Given the description of an element on the screen output the (x, y) to click on. 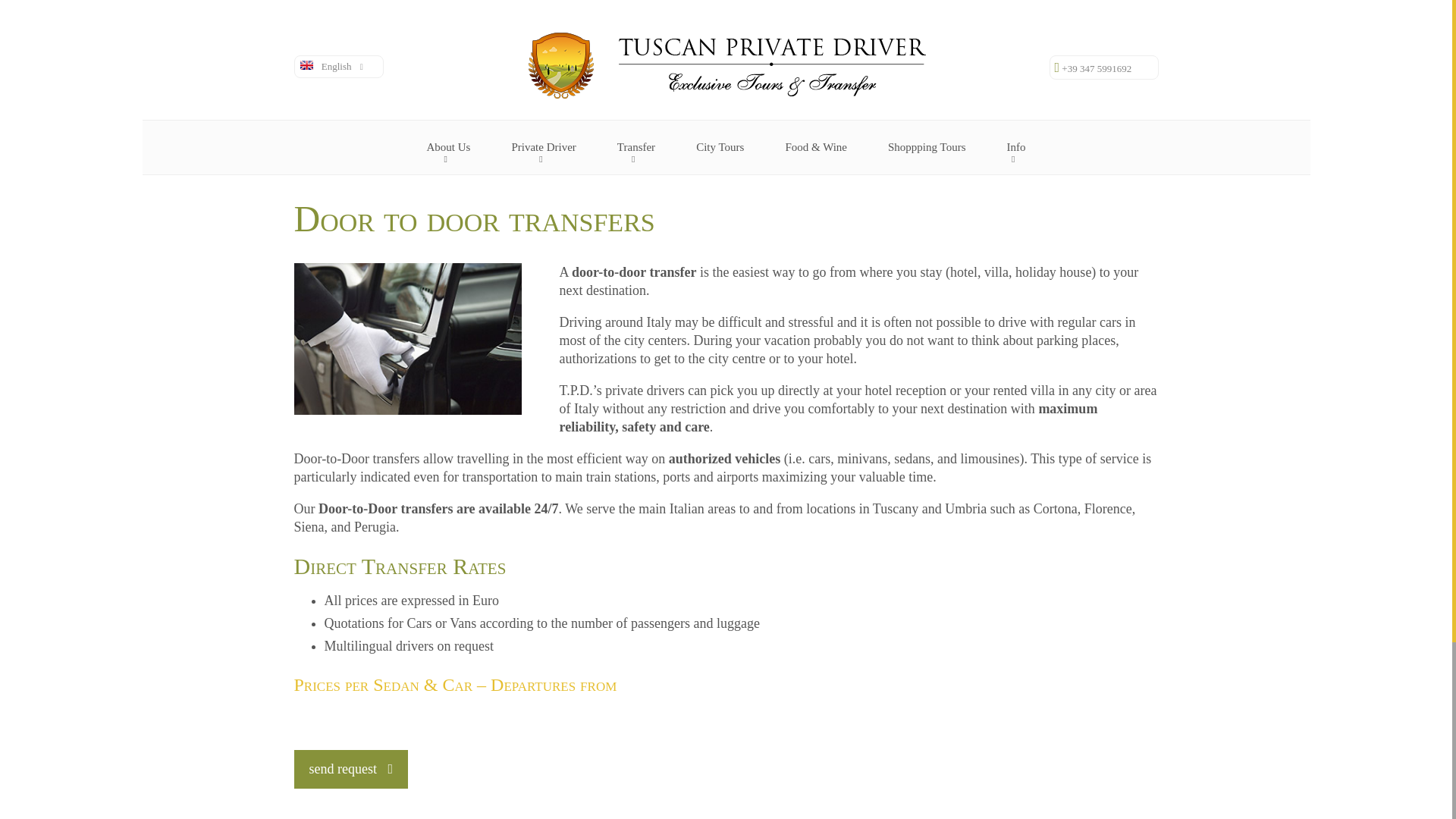
English (332, 65)
Transfer (636, 147)
City Tours (719, 147)
Private Driver (543, 147)
Shoppping Tours (926, 147)
About Us (448, 147)
send request (351, 769)
Info (1015, 147)
